Given the description of an element on the screen output the (x, y) to click on. 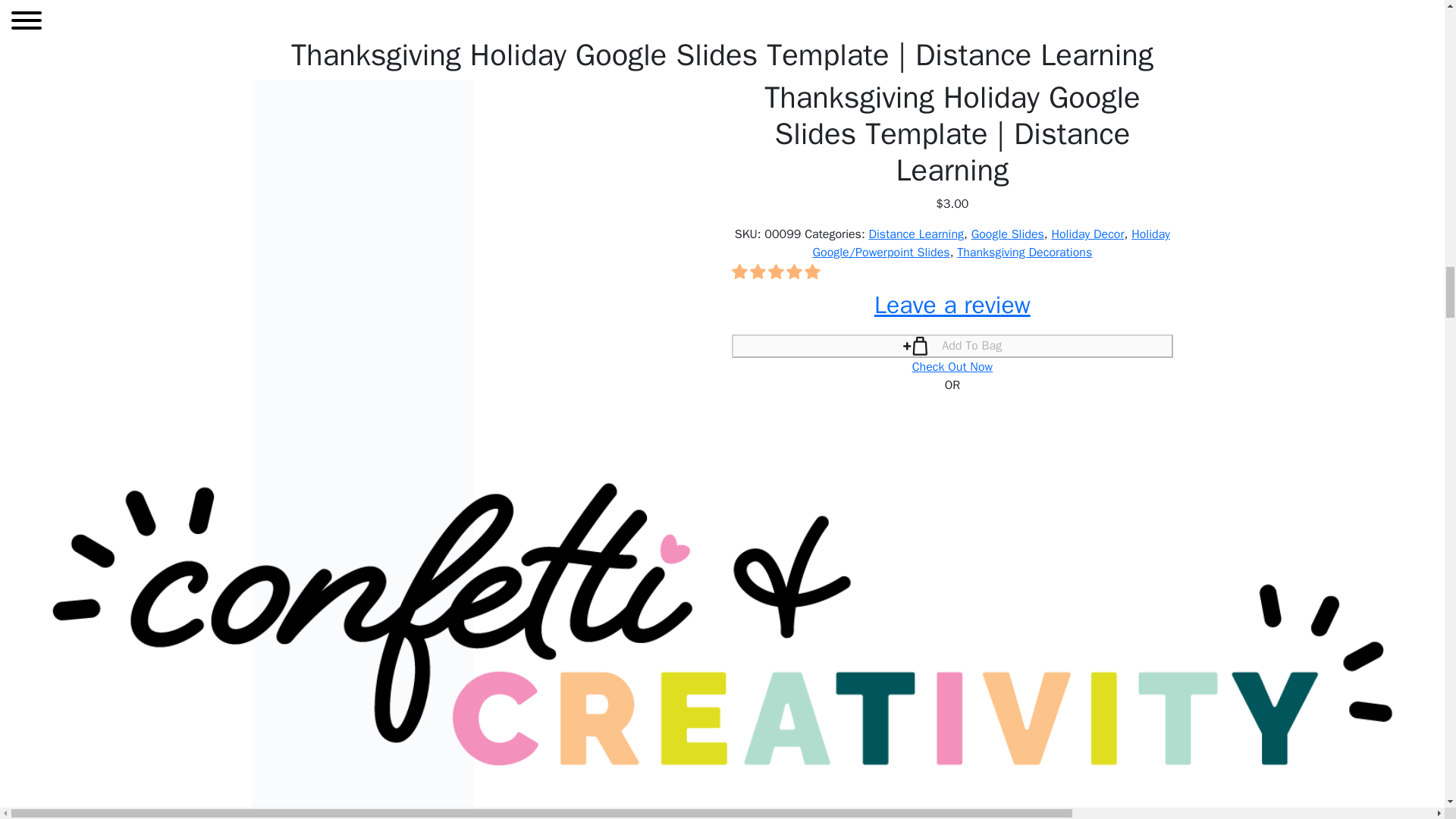
Distance Learning (915, 233)
Check Out Now (952, 366)
Google Slides (1007, 233)
Leave a review (952, 305)
Holiday Decor (1087, 233)
 Add To Bag (951, 345)
